Given the description of an element on the screen output the (x, y) to click on. 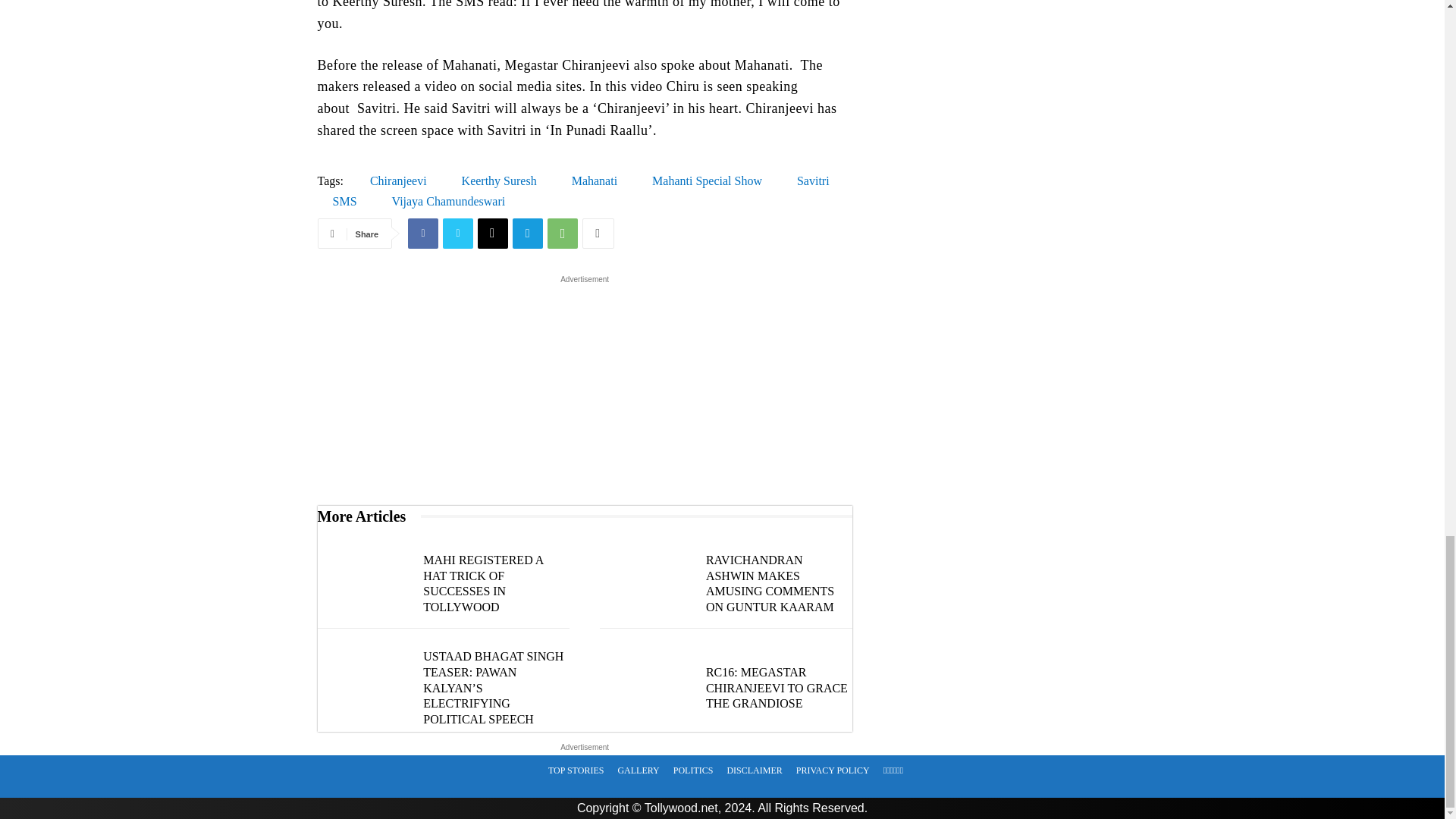
Facebook (422, 233)
